Given the description of an element on the screen output the (x, y) to click on. 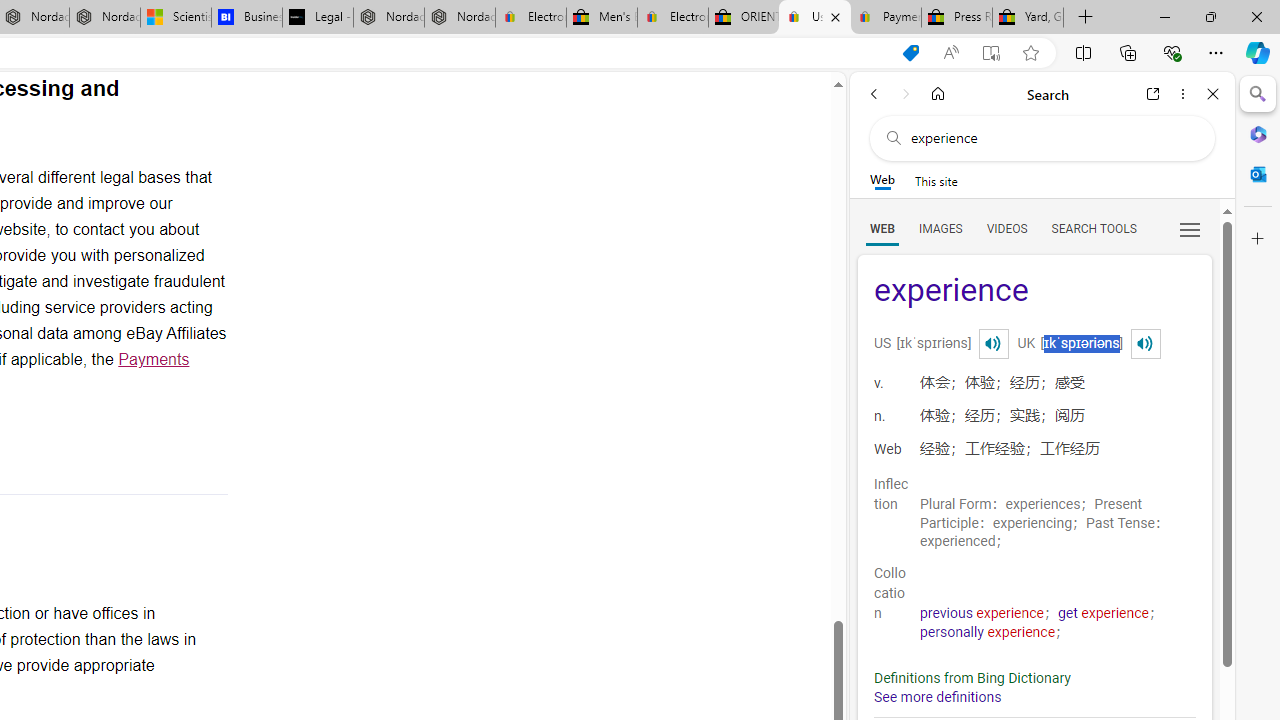
Enter Immersive Reader (F9) (991, 53)
get experience (1103, 613)
Electronics, Cars, Fashion, Collectibles & More | eBay (672, 17)
Preferences (1189, 228)
Search Filter, WEB (882, 228)
See more definitions (938, 697)
Search Filter, VIDEOS (1006, 228)
Class: b_serphb (1190, 229)
Web scope (882, 180)
Search Filter, Search Tools (1093, 228)
Payments Terms of Use | eBay.com (886, 17)
